Given the description of an element on the screen output the (x, y) to click on. 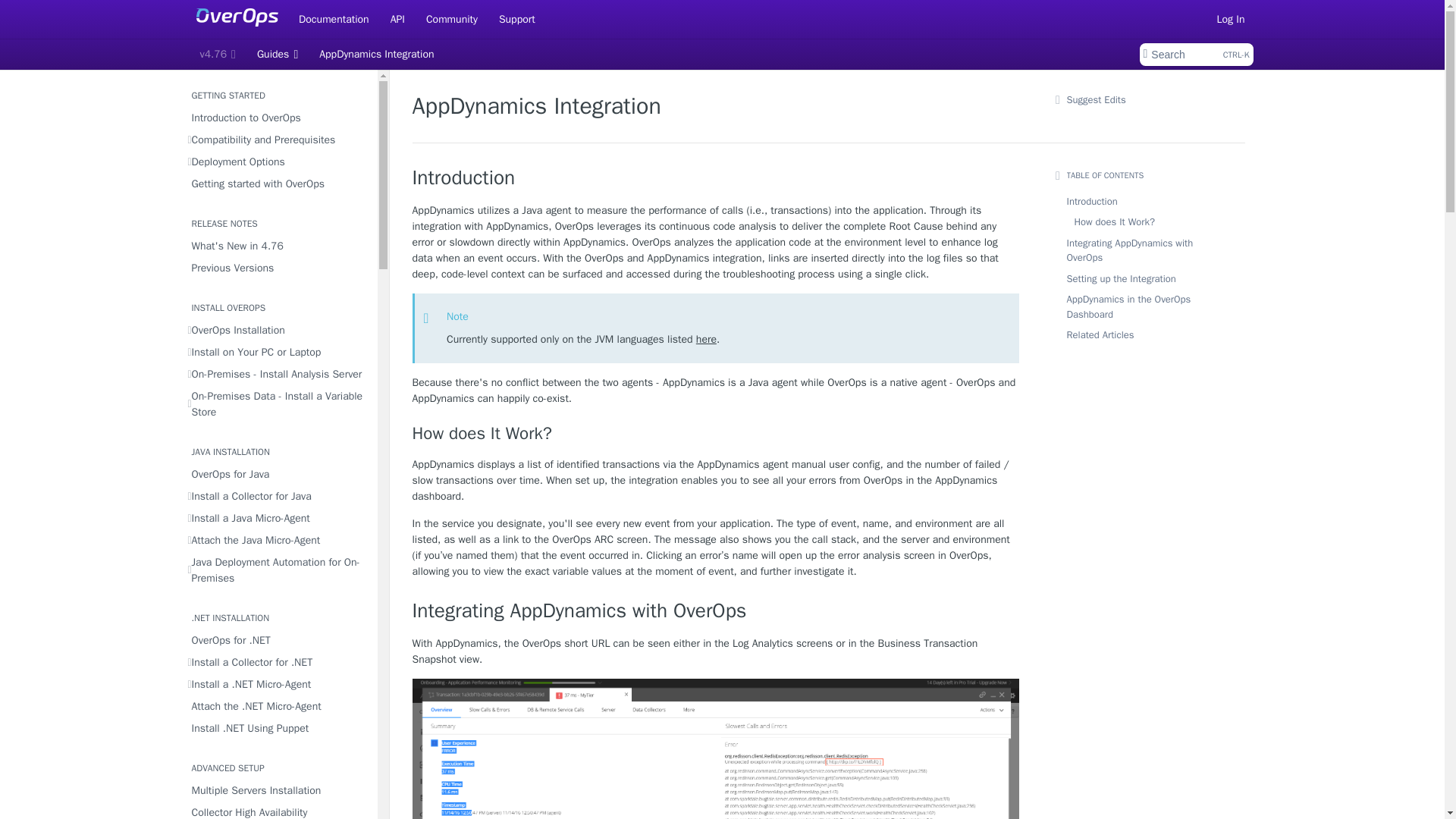
OverOps Installation (277, 330)
Compatibility and Prerequisites (1195, 54)
What's New in 4.76 (277, 139)
Introduction to OverOps (277, 245)
API (277, 117)
v4.76 (397, 18)
Community (216, 54)
Log In (451, 18)
Introduction (1230, 18)
